Given the description of an element on the screen output the (x, y) to click on. 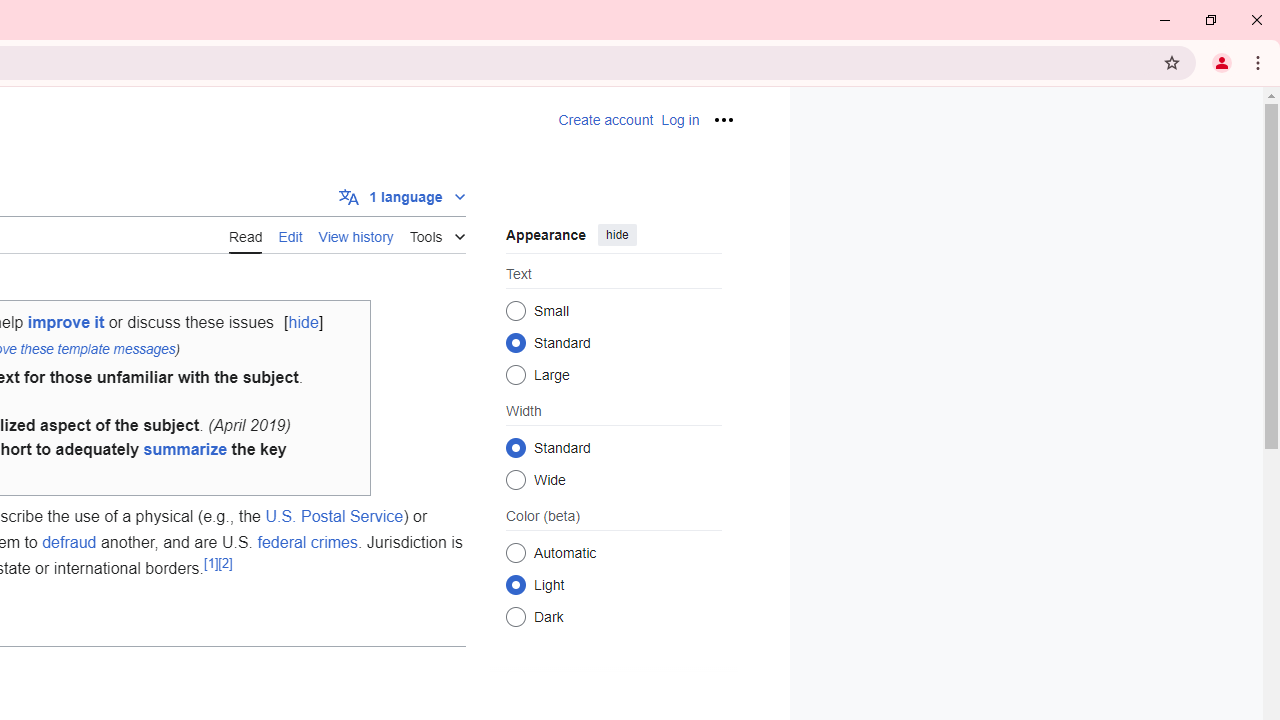
Light (515, 583)
[hide] (303, 323)
Standard (515, 447)
Small (515, 310)
U.S. Postal Service (334, 517)
[2] (224, 562)
federal crimes (307, 541)
Edit (290, 235)
Dark (515, 616)
AutomationID: pt-createaccount-2 (606, 120)
Large (515, 374)
Create account (606, 120)
AutomationID: pt-login-2 (680, 120)
